Given the description of an element on the screen output the (x, y) to click on. 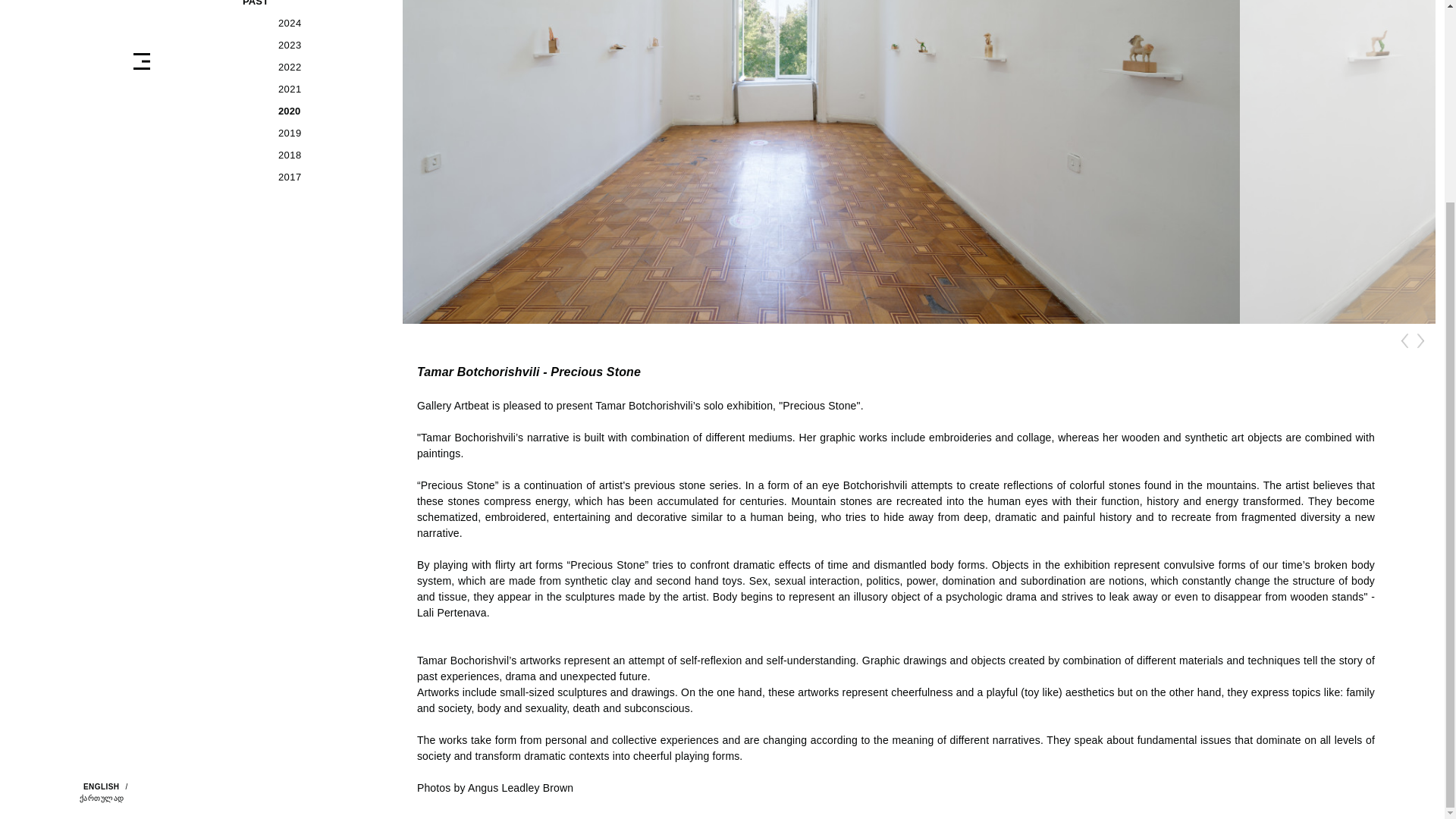
2024 (325, 23)
PAST (310, 6)
ENGLISH (99, 788)
